Given the description of an element on the screen output the (x, y) to click on. 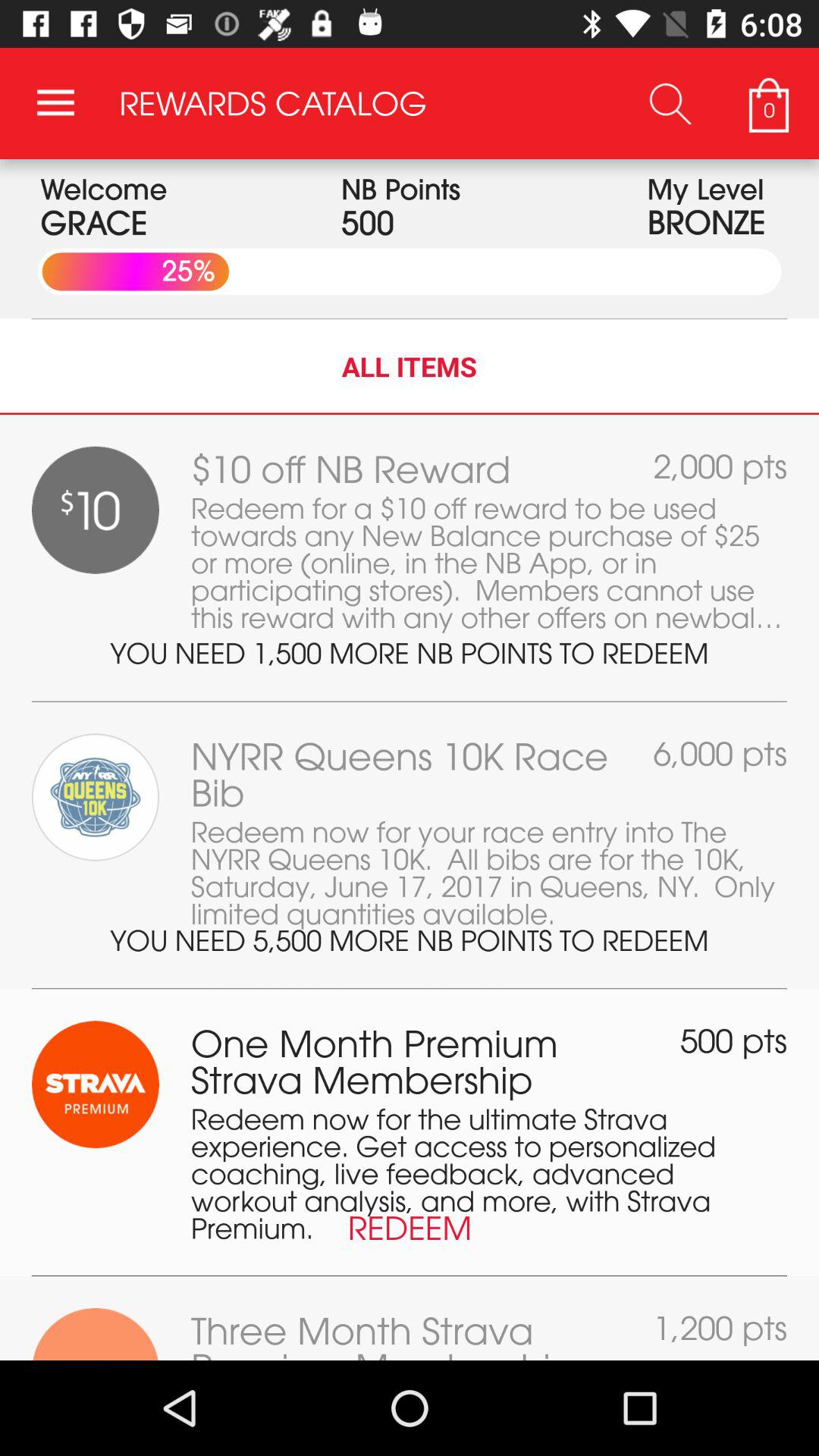
select the icon above the redeem now for (733, 1040)
